Given the description of an element on the screen output the (x, y) to click on. 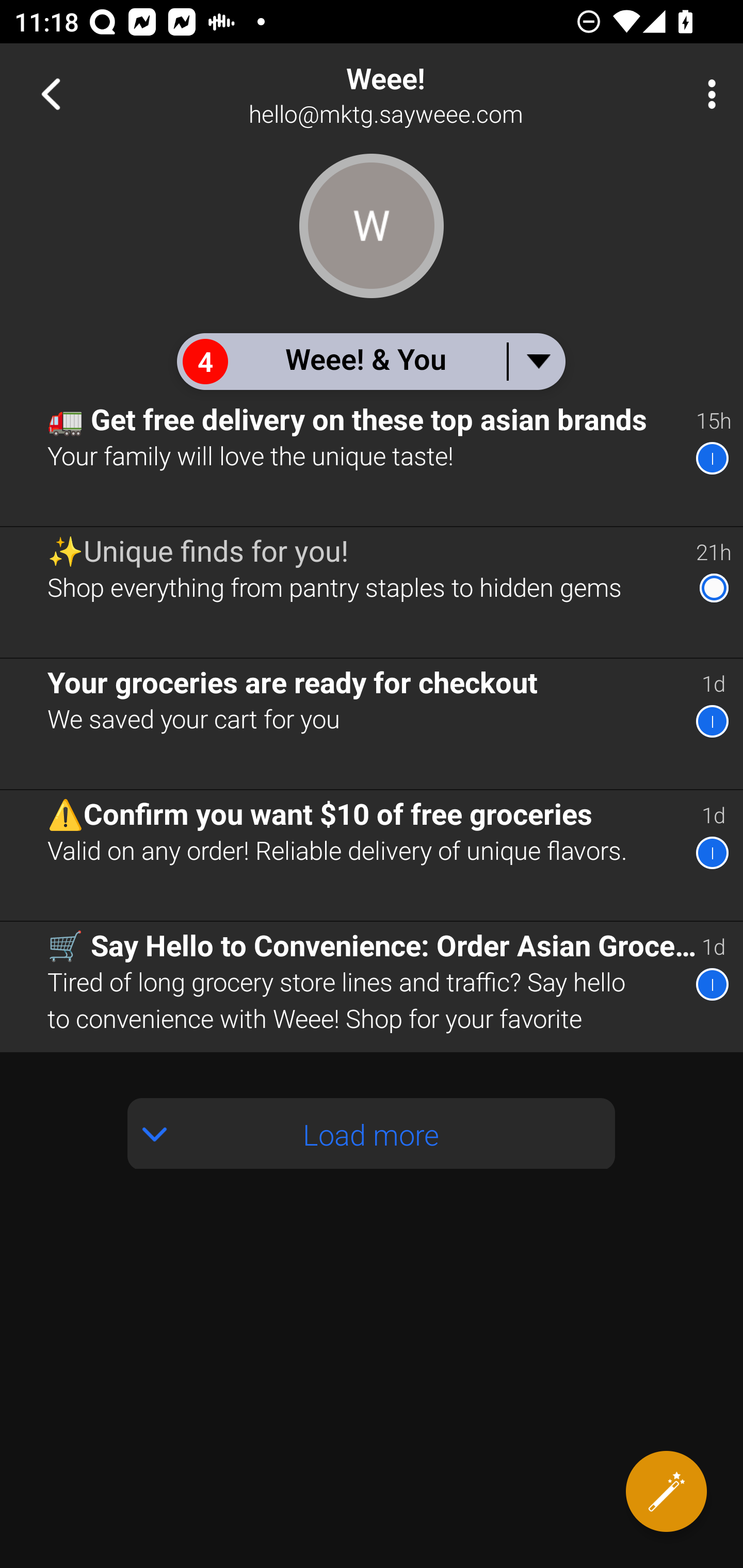
Navigate up (50, 93)
Weee! hello@mktg.sayweee.com (436, 93)
More Options (706, 93)
4 Weee! & You (370, 361)
Load more (371, 1132)
